Given the description of an element on the screen output the (x, y) to click on. 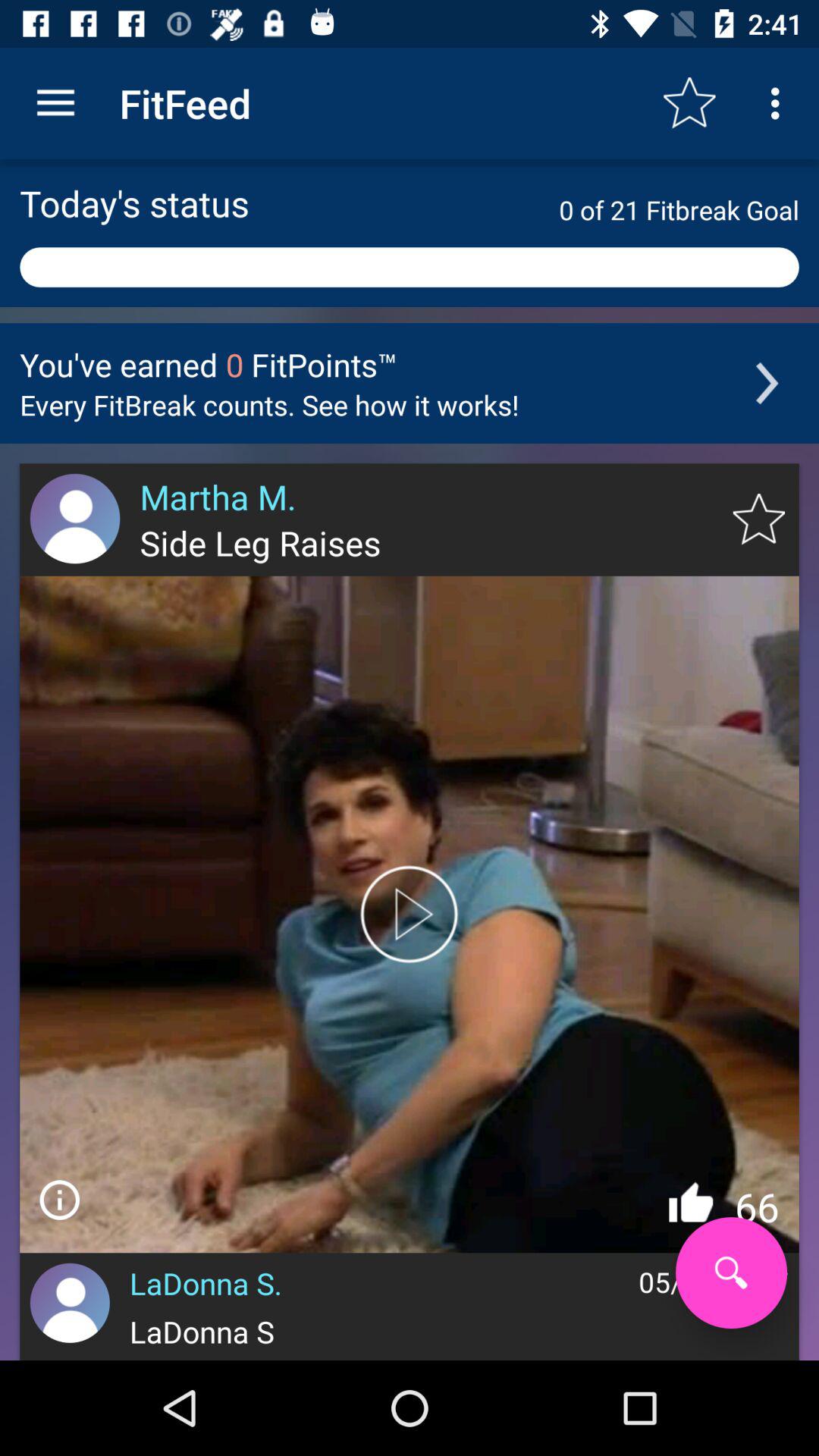
star option (758, 519)
